Given the description of an element on the screen output the (x, y) to click on. 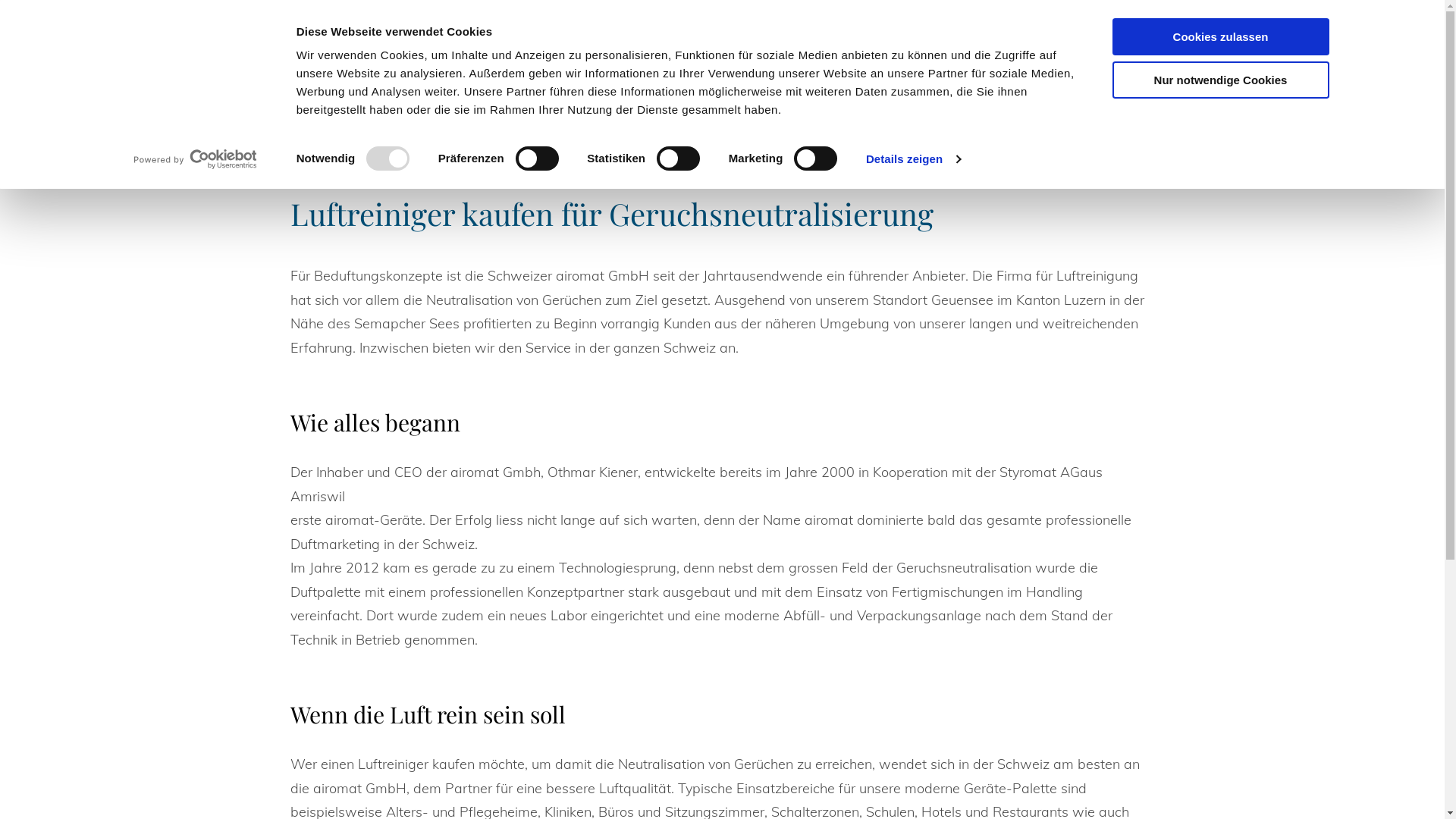
Home Element type: text (476, 74)
Servicekonzept Element type: text (688, 74)
Shop Element type: text (906, 74)
Downloads Element type: text (838, 74)
Nur notwendige Cookies Element type: text (1219, 78)
Details zeigen Element type: text (913, 158)
Cookies zulassen Element type: text (1219, 36)
Konzept Element type: text (536, 74)
Team Element type: text (769, 74)
041 461 09 80 Element type: text (1334, 74)
Kontakt Element type: text (961, 74)
